Given the description of an element on the screen output the (x, y) to click on. 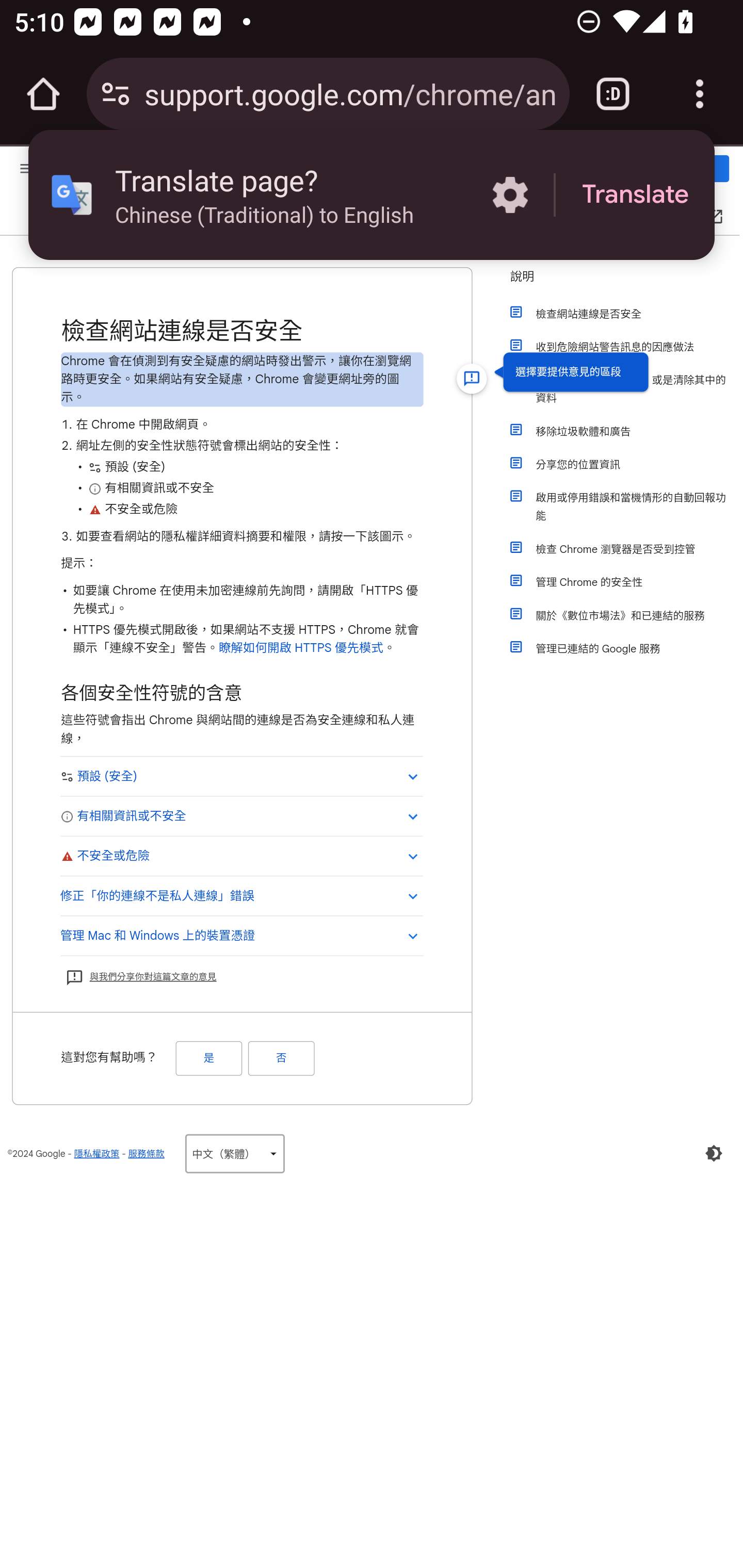
Open the home page (43, 93)
Connection is secure (115, 93)
Switch or close tabs (612, 93)
Customize and control Google Chrome (699, 93)
Translate (634, 195)
More options in the Translate page? (509, 195)
